Given the description of an element on the screen output the (x, y) to click on. 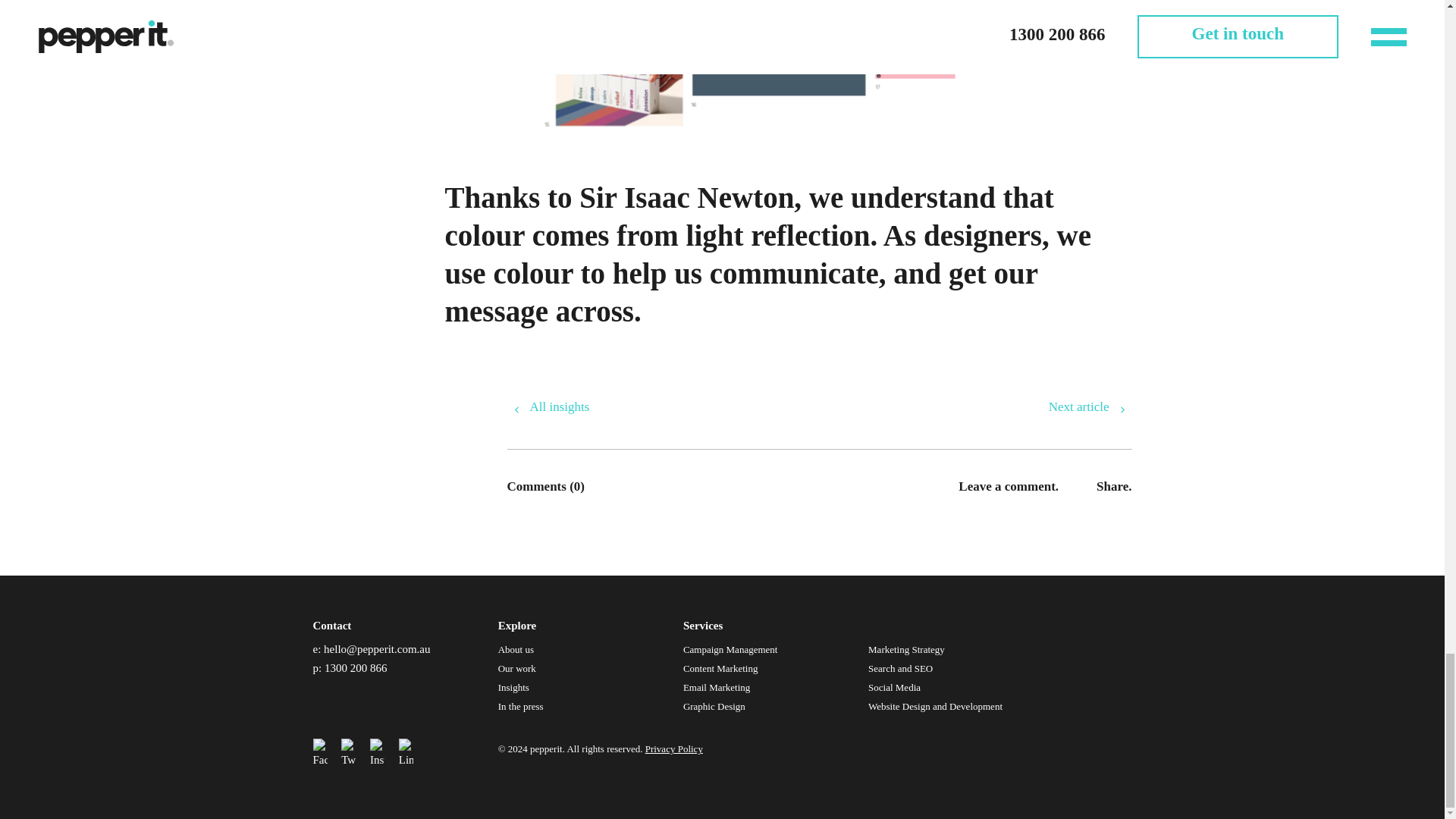
Leave a comment. (1008, 485)
All insights (547, 406)
Contact (331, 625)
Share. (1113, 485)
1300 200 866 (355, 667)
Next article (1090, 406)
